Given the description of an element on the screen output the (x, y) to click on. 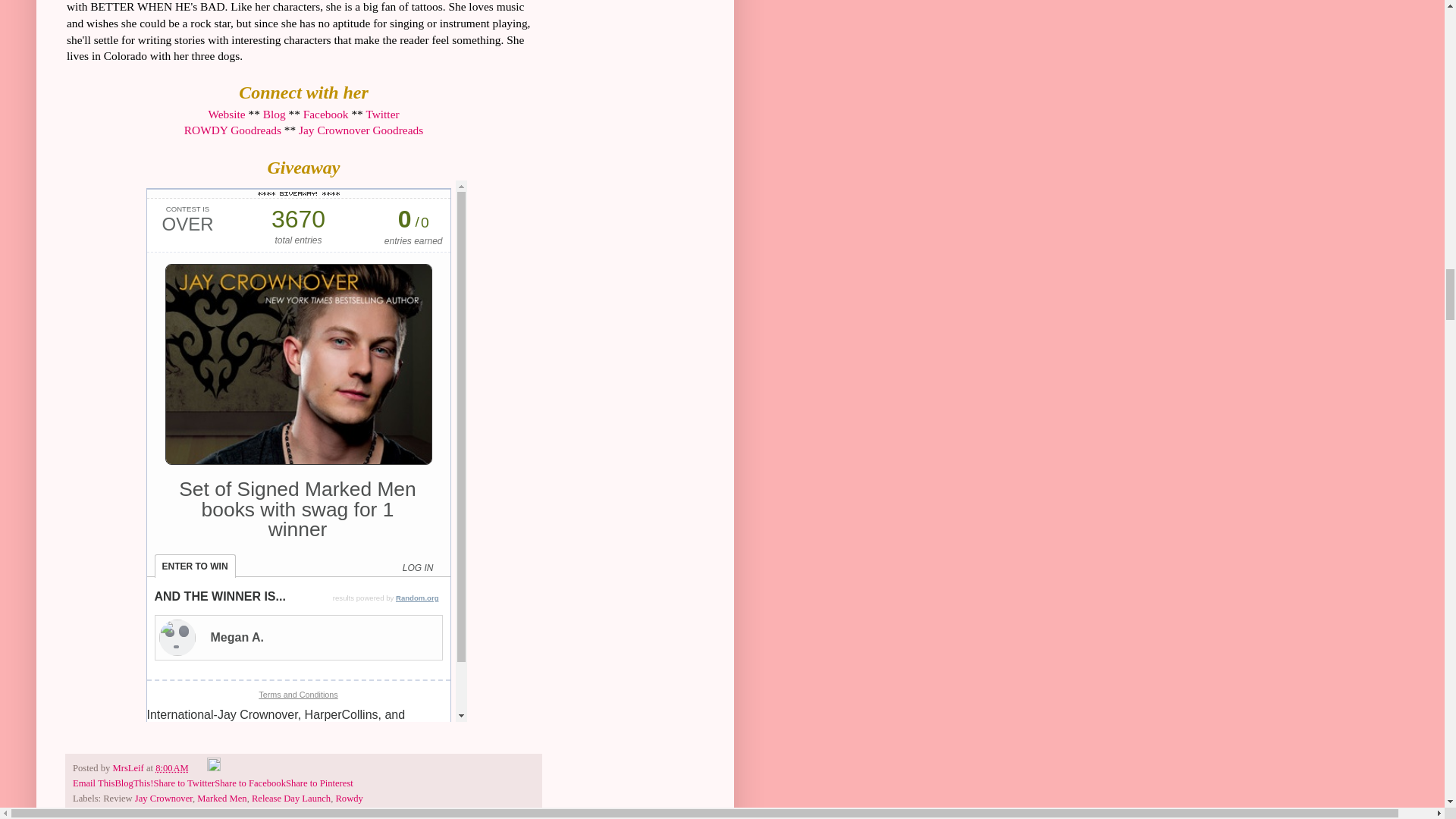
Marked Men (221, 798)
Share to Twitter (183, 783)
ROWDY Goodreads (232, 129)
Email Post (198, 767)
permanent link (172, 767)
Email This (93, 783)
MrsLeif (128, 767)
Edit Post (213, 767)
Facebook (325, 113)
Website (226, 113)
Rowdy (348, 798)
Share to Pinterest (319, 783)
Share to Facebook (249, 783)
author profile (128, 767)
